Given the description of an element on the screen output the (x, y) to click on. 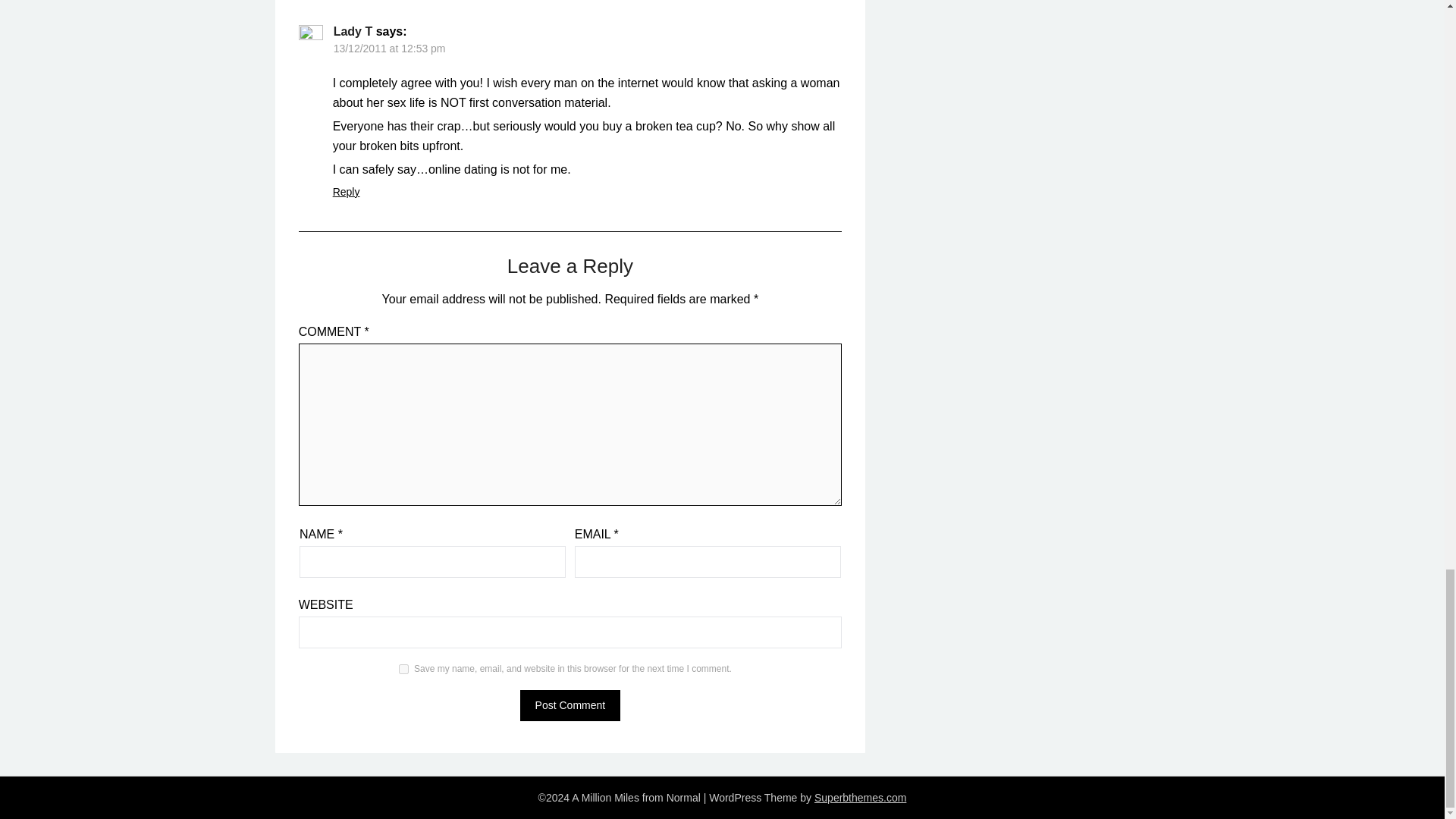
yes (403, 669)
Reply (346, 191)
Post Comment (570, 705)
Superbthemes.com (859, 797)
Lady T (352, 31)
Post Comment (570, 705)
